Given the description of an element on the screen output the (x, y) to click on. 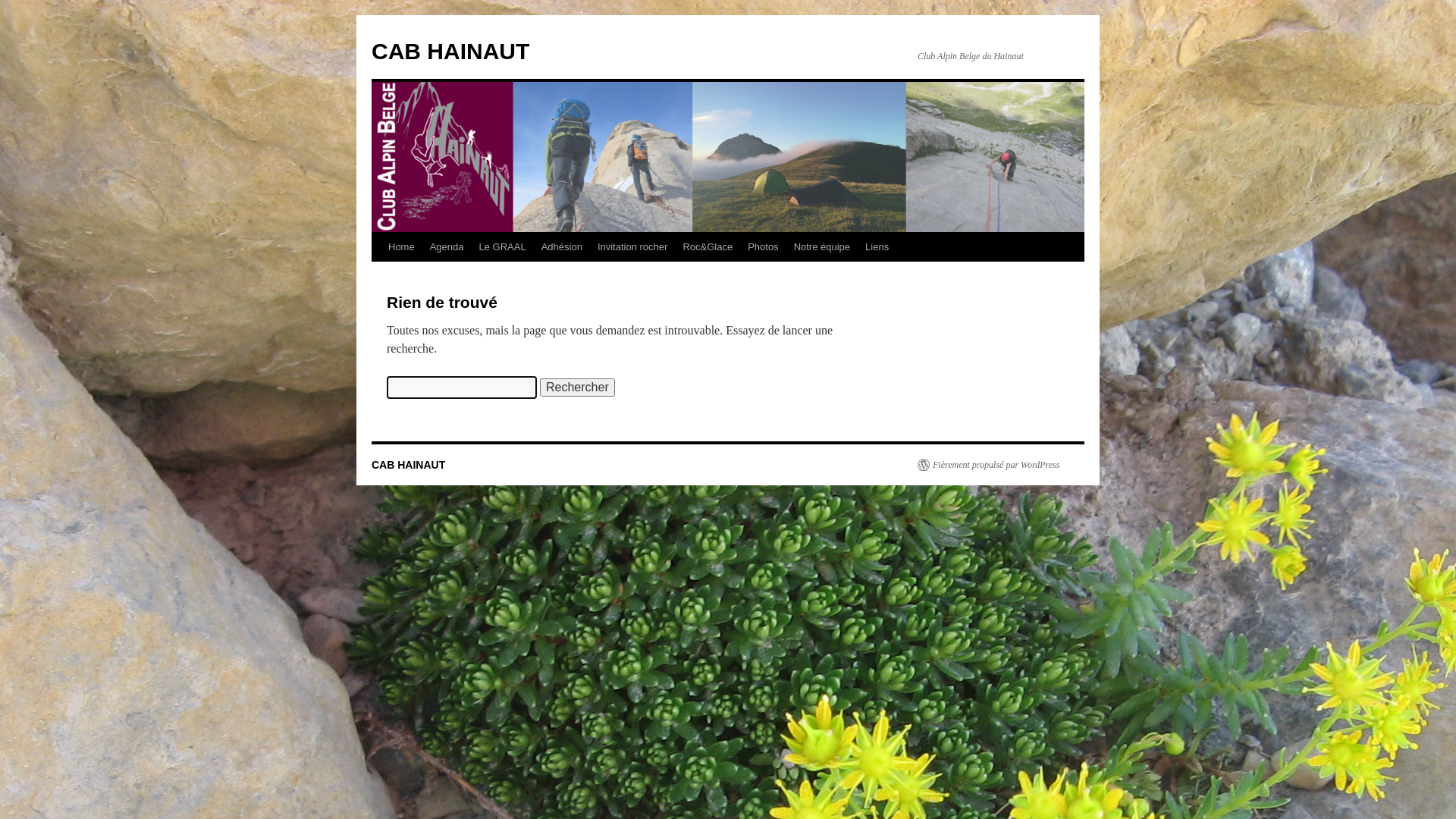
CAB HAINAUT Element type: text (450, 50)
Invitation rocher Element type: text (632, 246)
Liens Element type: text (876, 246)
Photos Element type: text (762, 246)
Agenda Element type: text (446, 246)
Rechercher Element type: text (577, 387)
Aller au contenu Element type: text (377, 275)
CAB HAINAUT Element type: text (408, 464)
Home Element type: text (401, 246)
Le GRAAL Element type: text (502, 246)
Roc&Glace Element type: text (707, 246)
